Given the description of an element on the screen output the (x, y) to click on. 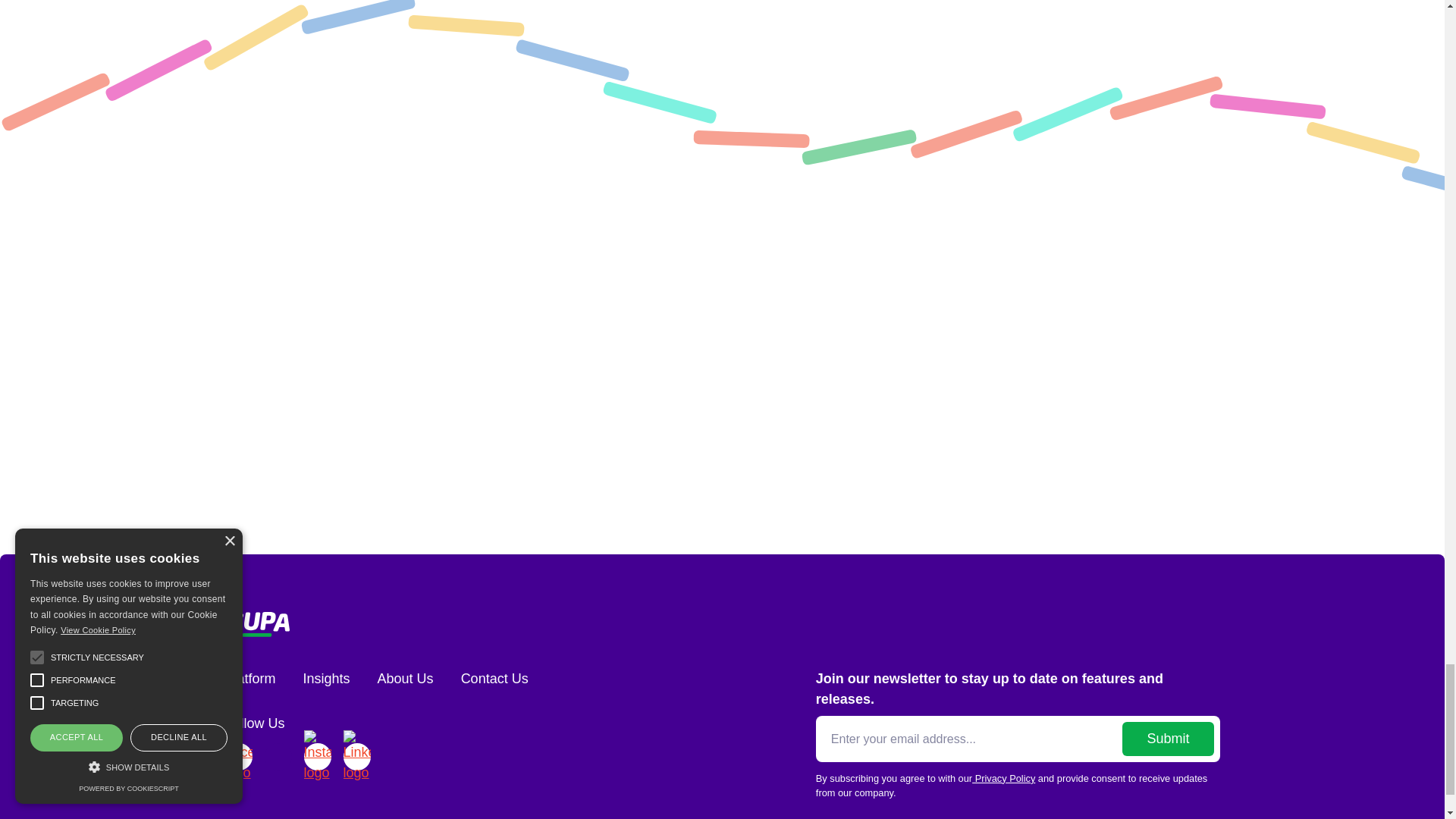
Contact Us (494, 679)
Send Message (709, 461)
Insights (326, 679)
Submit (1167, 738)
Platform (249, 679)
About Us (405, 679)
Privacy Policy (1003, 778)
Submit (1167, 738)
